Given the description of an element on the screen output the (x, y) to click on. 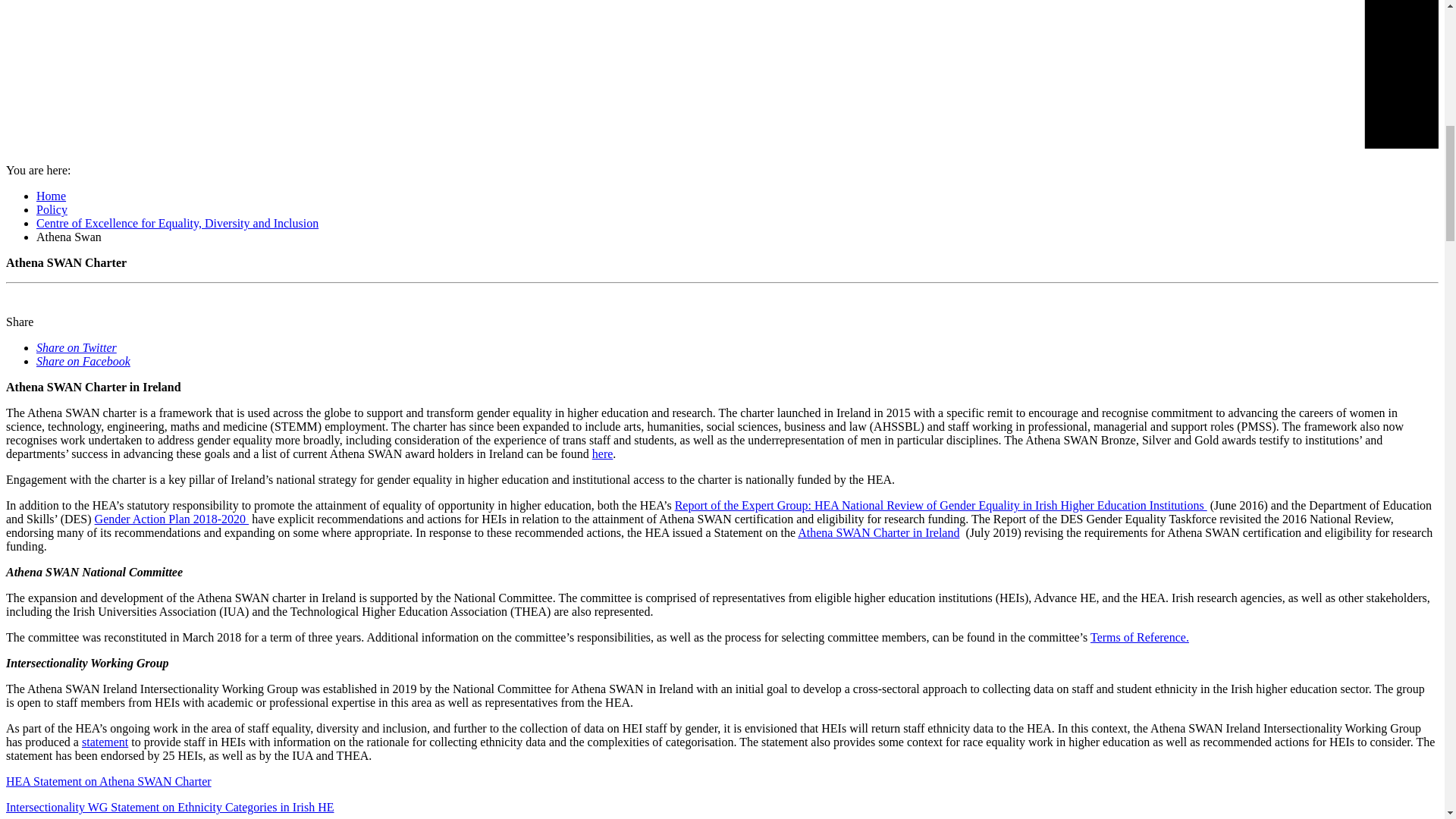
Terms of Reference. (1139, 636)
HEA Statement on Athena SWAN Charter (108, 780)
Gender Action Plan 2018-2020 (171, 518)
Share on Twitter (76, 347)
Home (50, 195)
Share on Facebook (83, 360)
here (602, 453)
statement (104, 741)
Policy (51, 209)
